Given the description of an element on the screen output the (x, y) to click on. 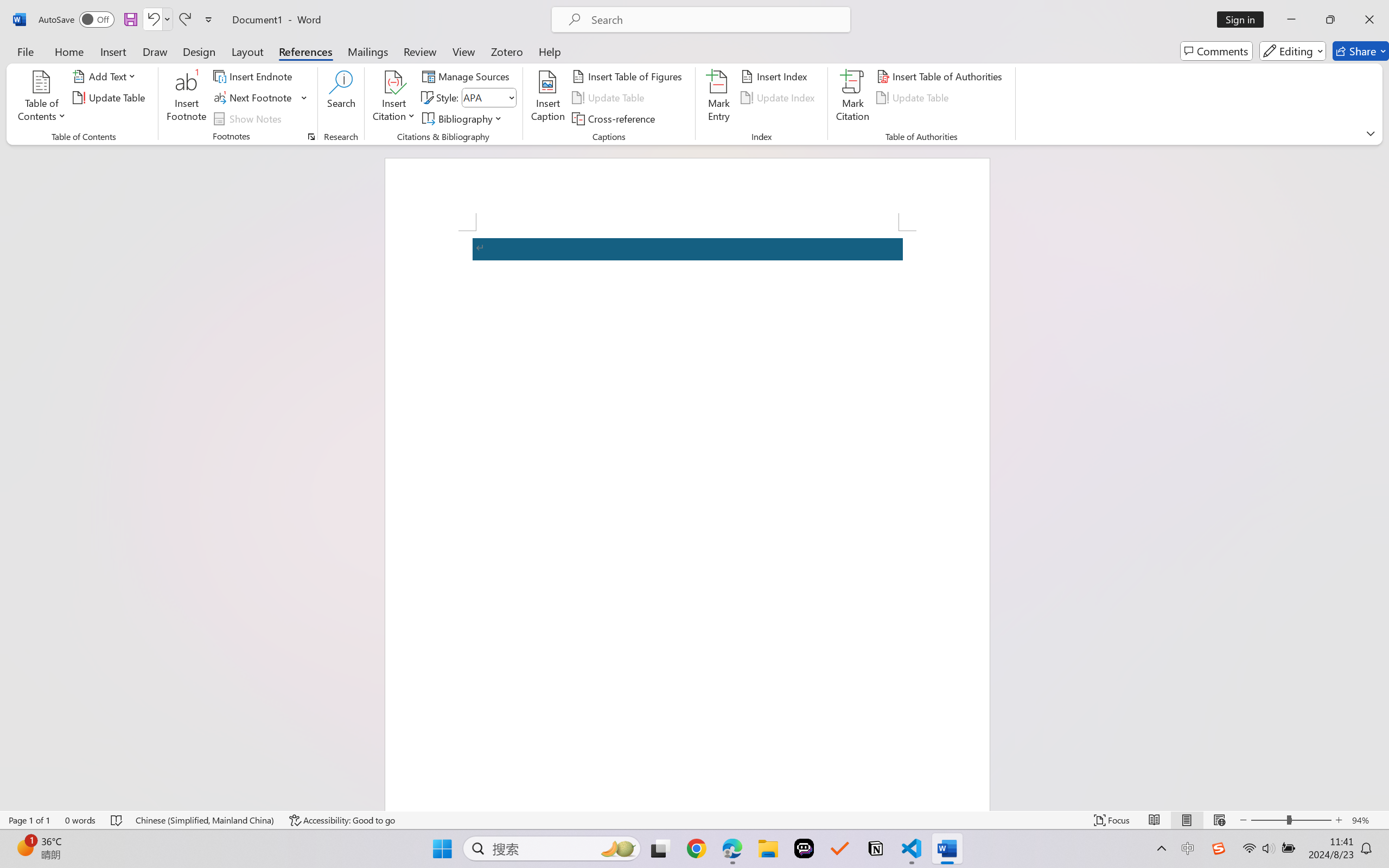
Insert Table of Authorities... (941, 75)
